Given the description of an element on the screen output the (x, y) to click on. 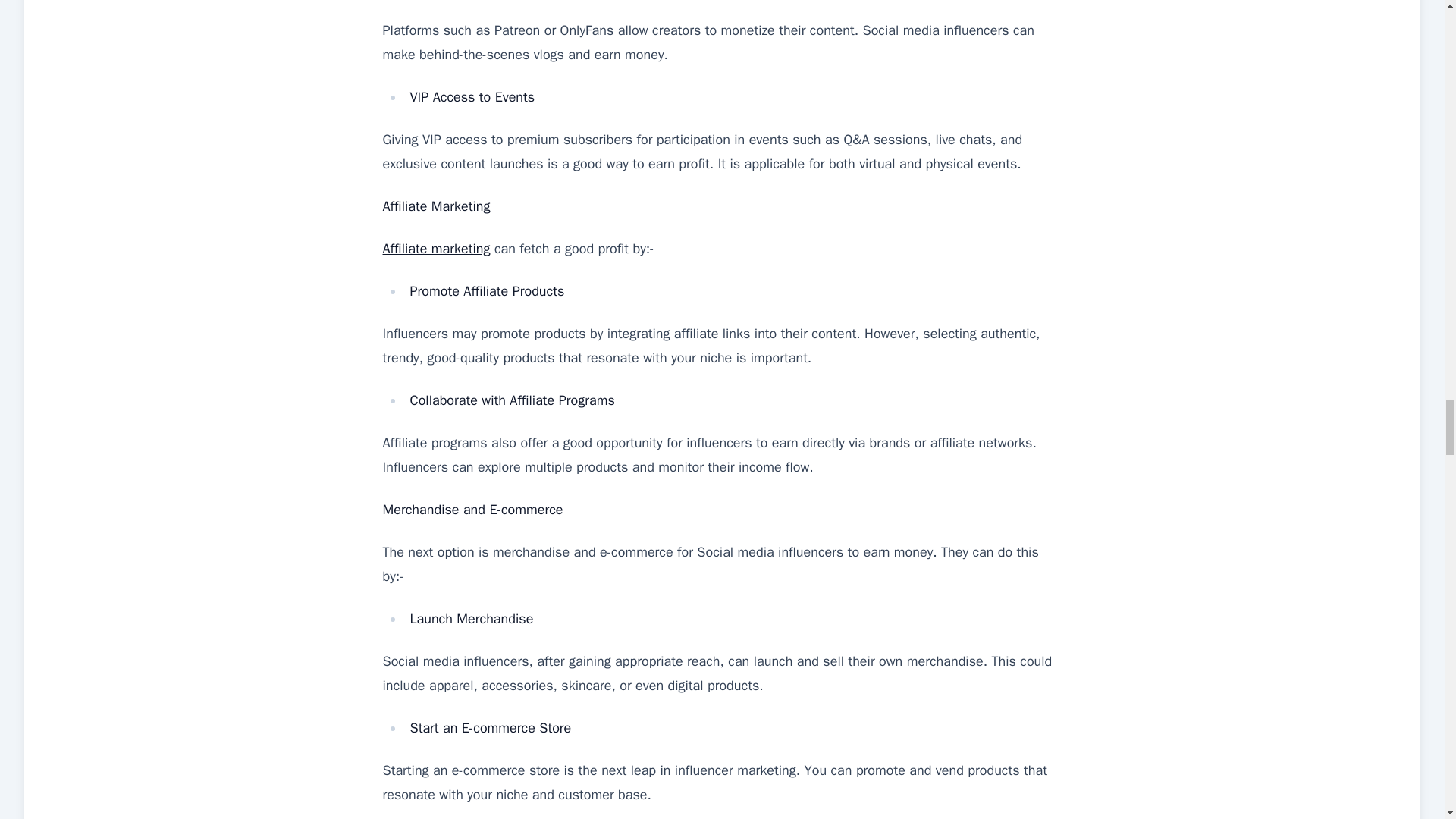
Affiliate marketing (435, 248)
